Given the description of an element on the screen output the (x, y) to click on. 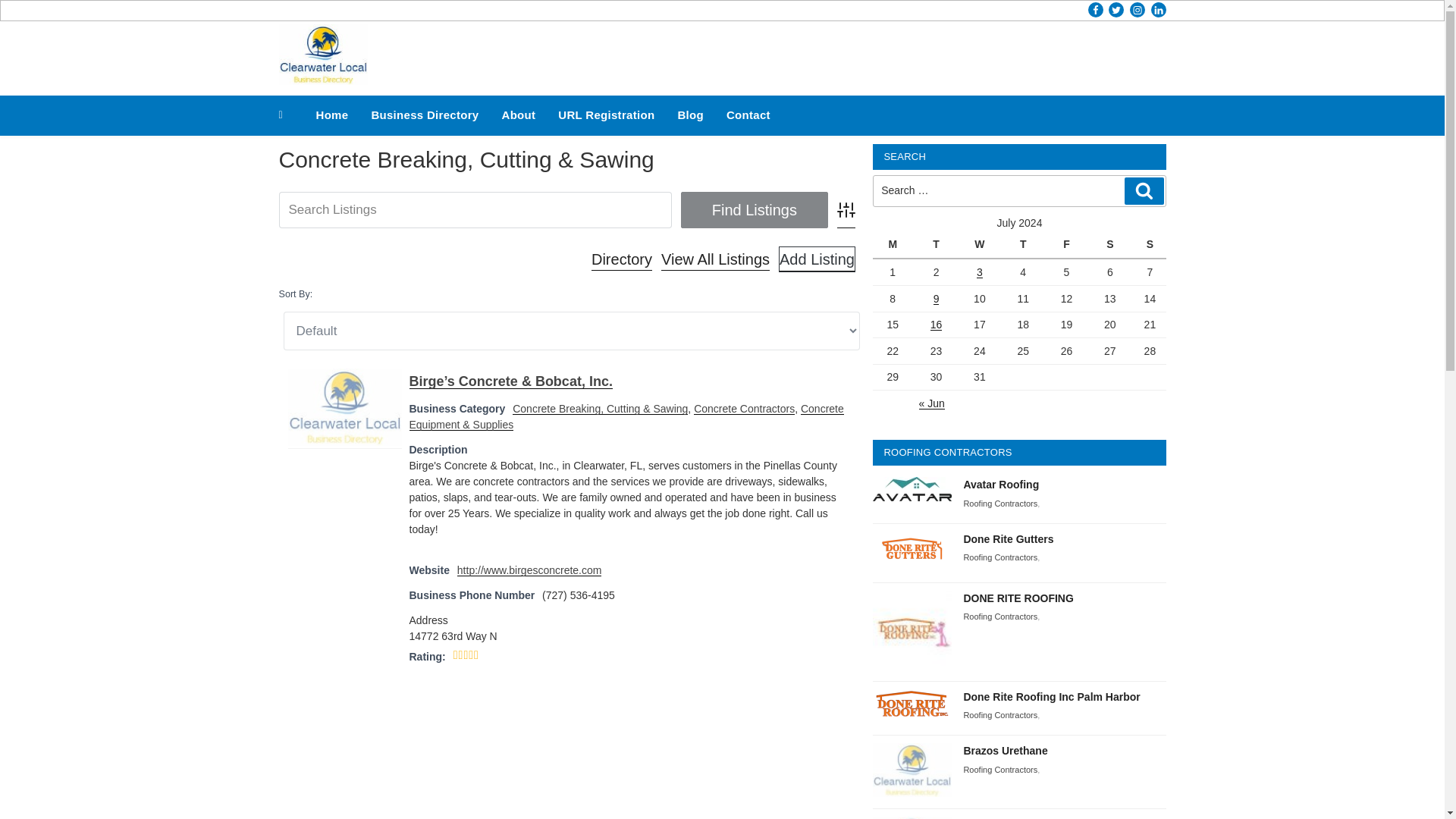
DONE RITE ROOFING (1017, 598)
Business Directory (424, 115)
Twitter (1116, 9)
16 (936, 324)
3 (979, 272)
Advanced Search (846, 209)
URL Registration (606, 115)
Facebook (1095, 9)
CLEARWATER FL LOCAL BUSINESS DIRECTORY (662, 76)
Friday (1068, 244)
Avatar Roofing (1000, 484)
Roofing Contractors (999, 556)
Find Listings (754, 209)
Done Rite Gutters (1007, 539)
Saturday (1112, 244)
